Given the description of an element on the screen output the (x, y) to click on. 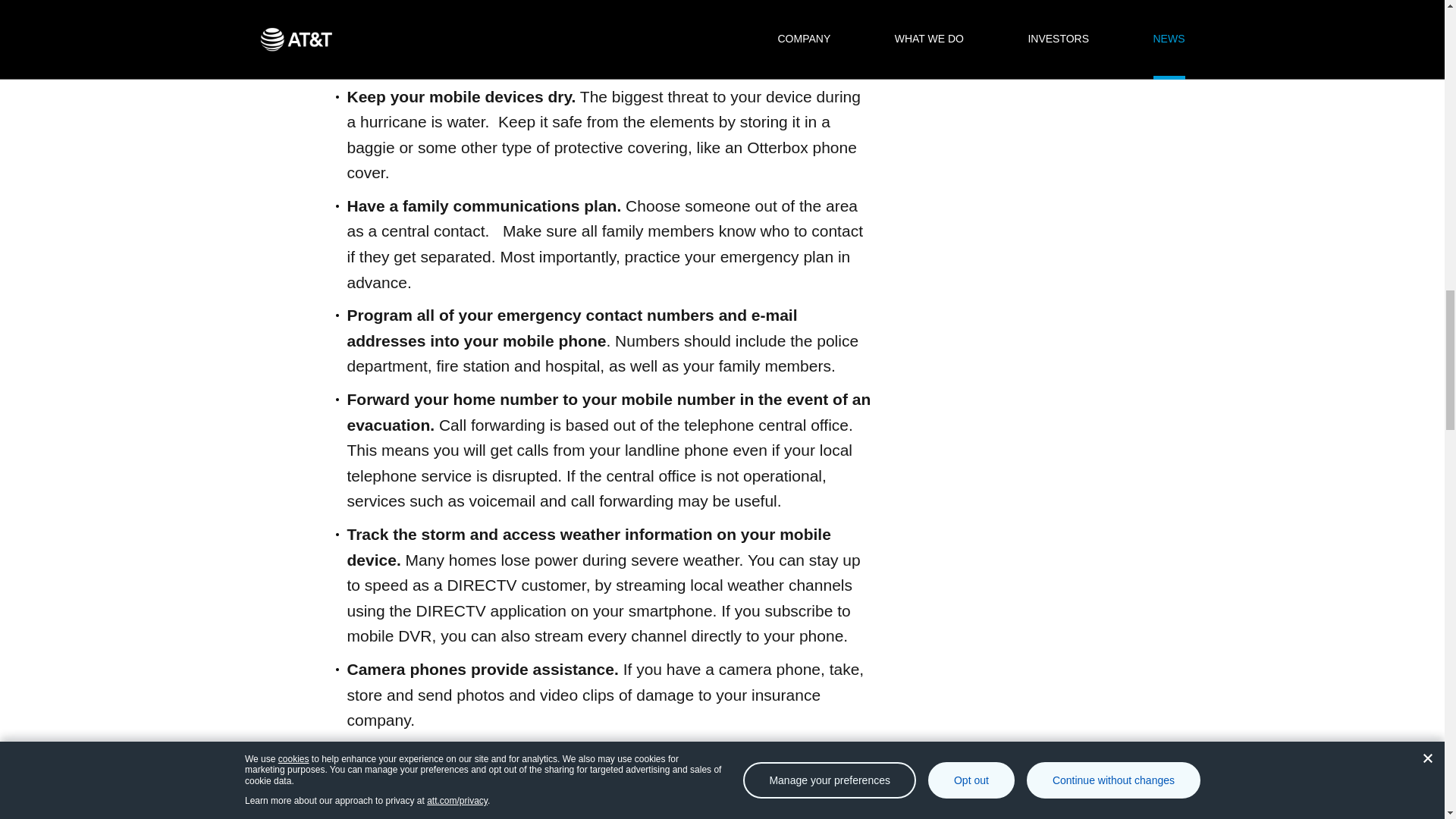
FamilyMap  (429, 778)
